Given the description of an element on the screen output the (x, y) to click on. 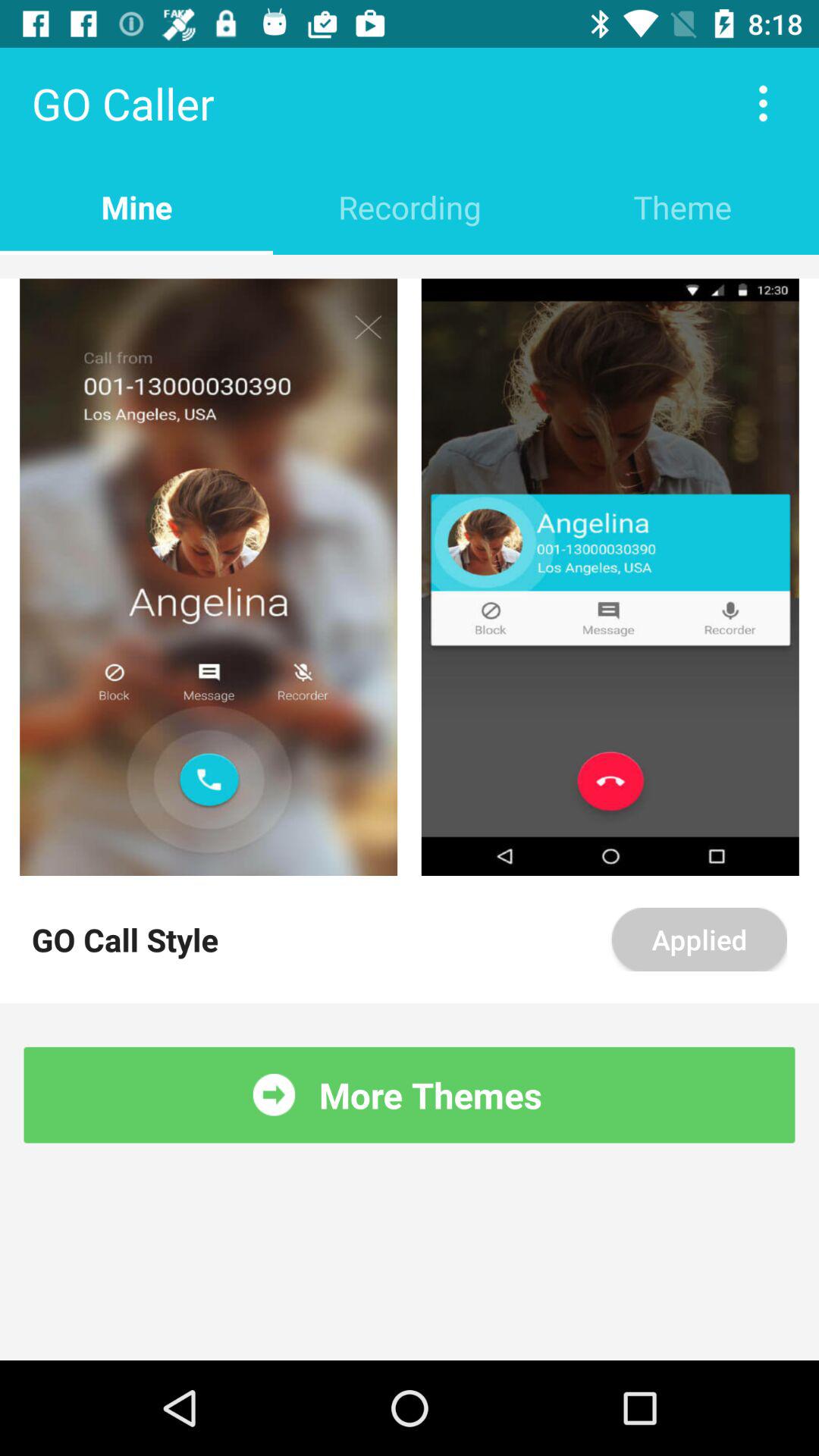
press the theme item (682, 206)
